Given the description of an element on the screen output the (x, y) to click on. 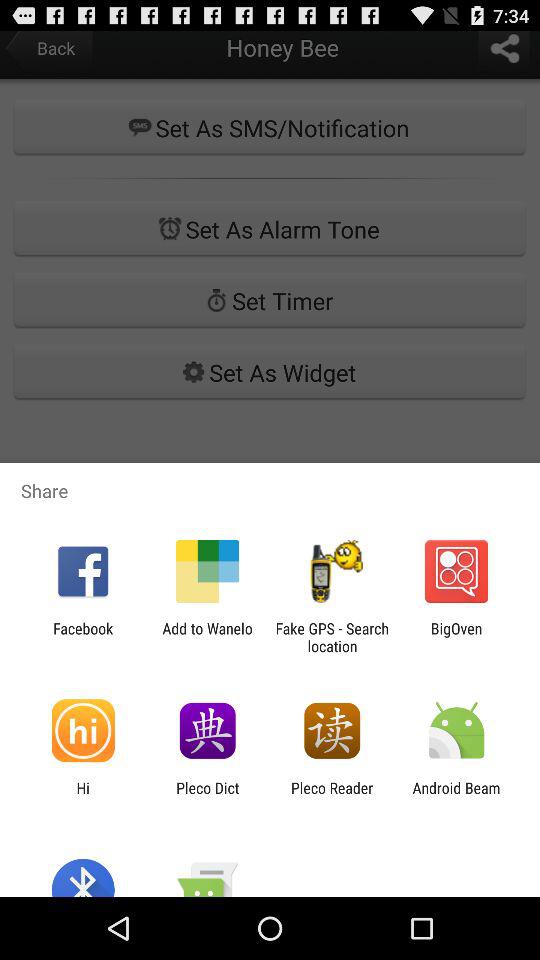
open the icon next to the pleco reader icon (207, 796)
